Given the description of an element on the screen output the (x, y) to click on. 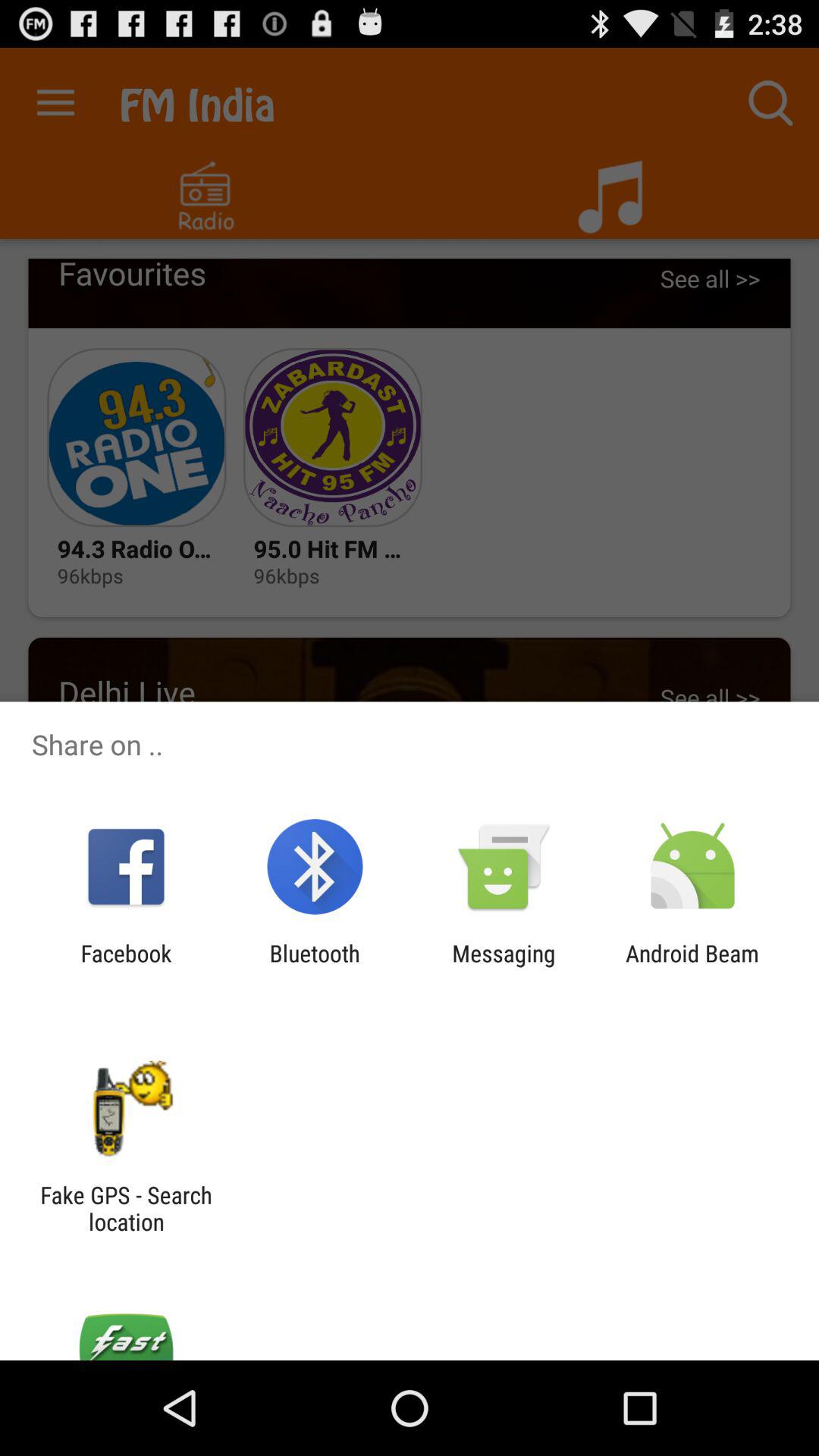
scroll to the bluetooth item (314, 966)
